Given the description of an element on the screen output the (x, y) to click on. 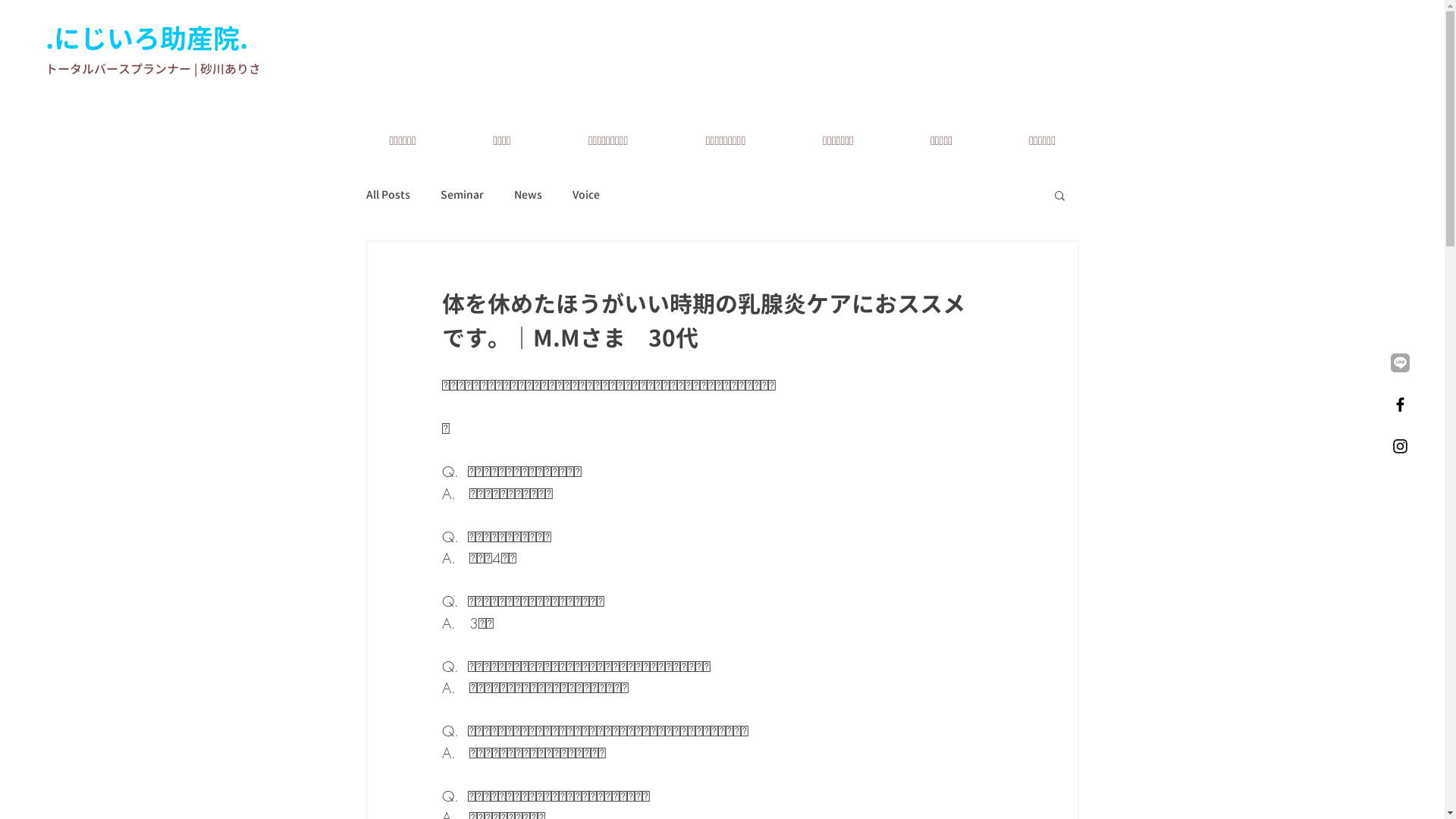
All Posts Element type: text (387, 194)
Seminar Element type: text (461, 194)
News Element type: text (528, 194)
Voice Element type: text (585, 194)
